Given the description of an element on the screen output the (x, y) to click on. 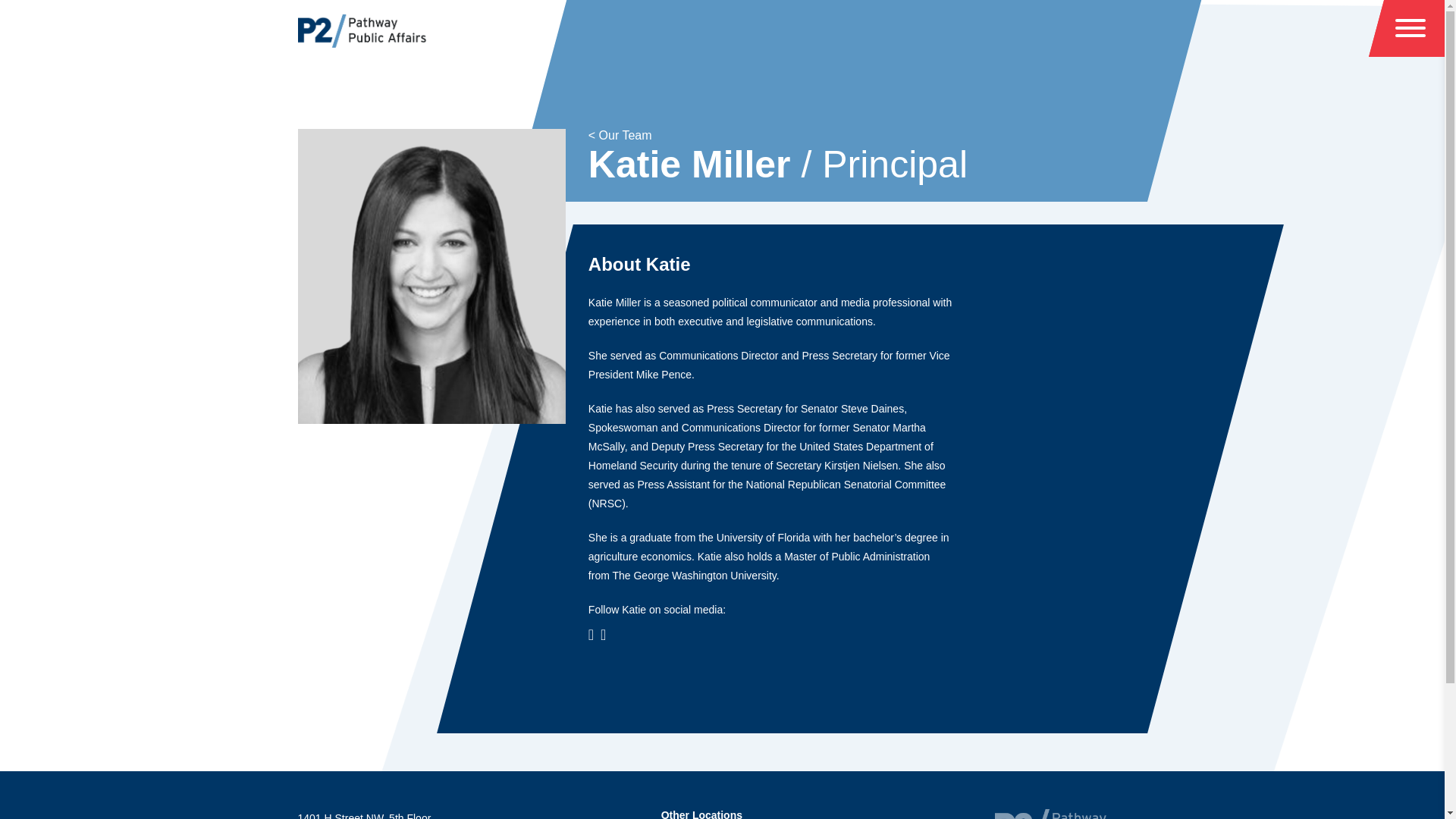
Pathway Public Affairs (361, 29)
